Given the description of an element on the screen output the (x, y) to click on. 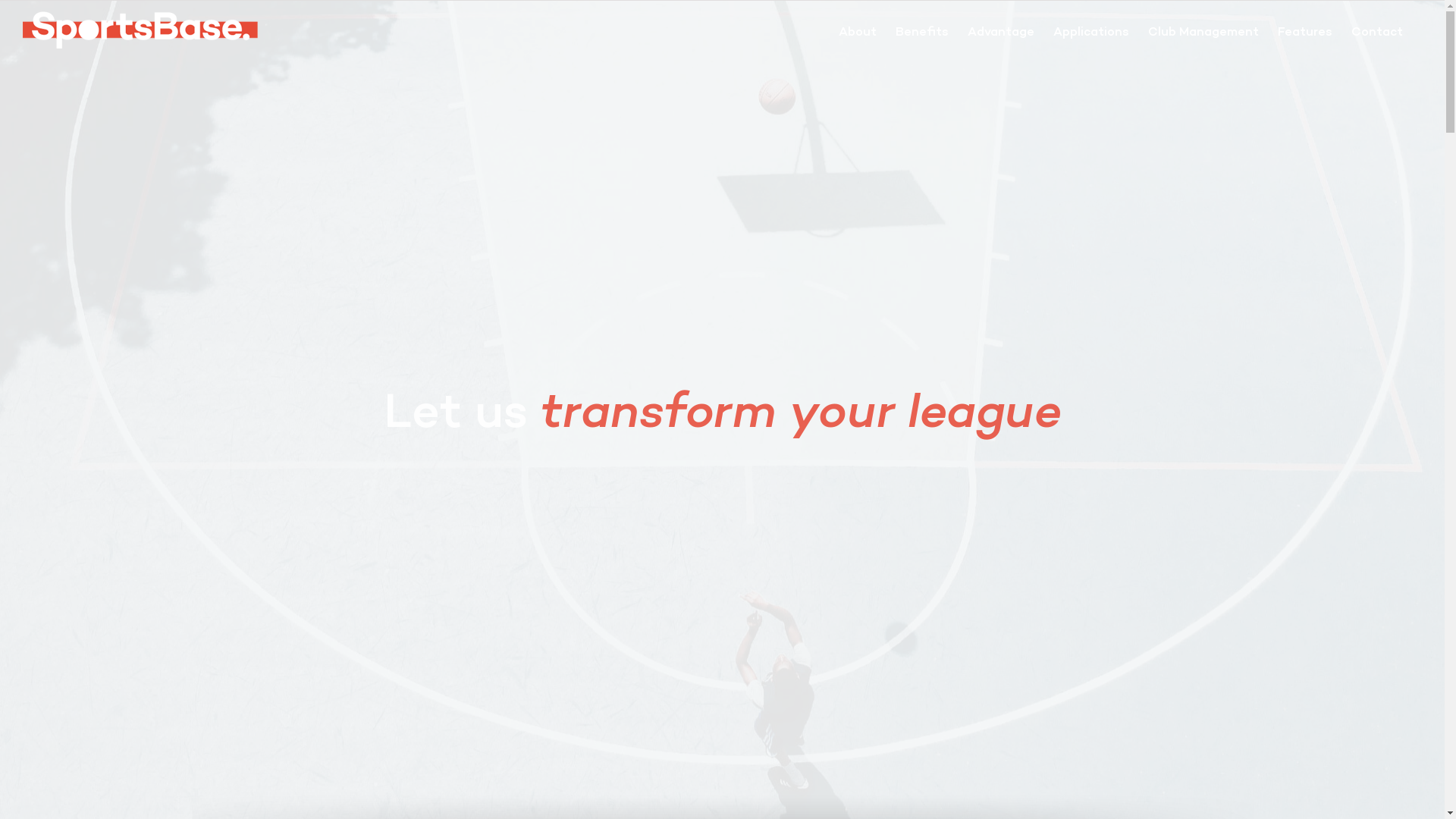
Applications Element type: text (1091, 31)
Contact Element type: text (1376, 31)
About Element type: text (857, 31)
Features Element type: text (1304, 31)
Club Management Element type: text (1203, 31)
Advantage Element type: text (1000, 31)
Benefits Element type: text (921, 31)
